Given the description of an element on the screen output the (x, y) to click on. 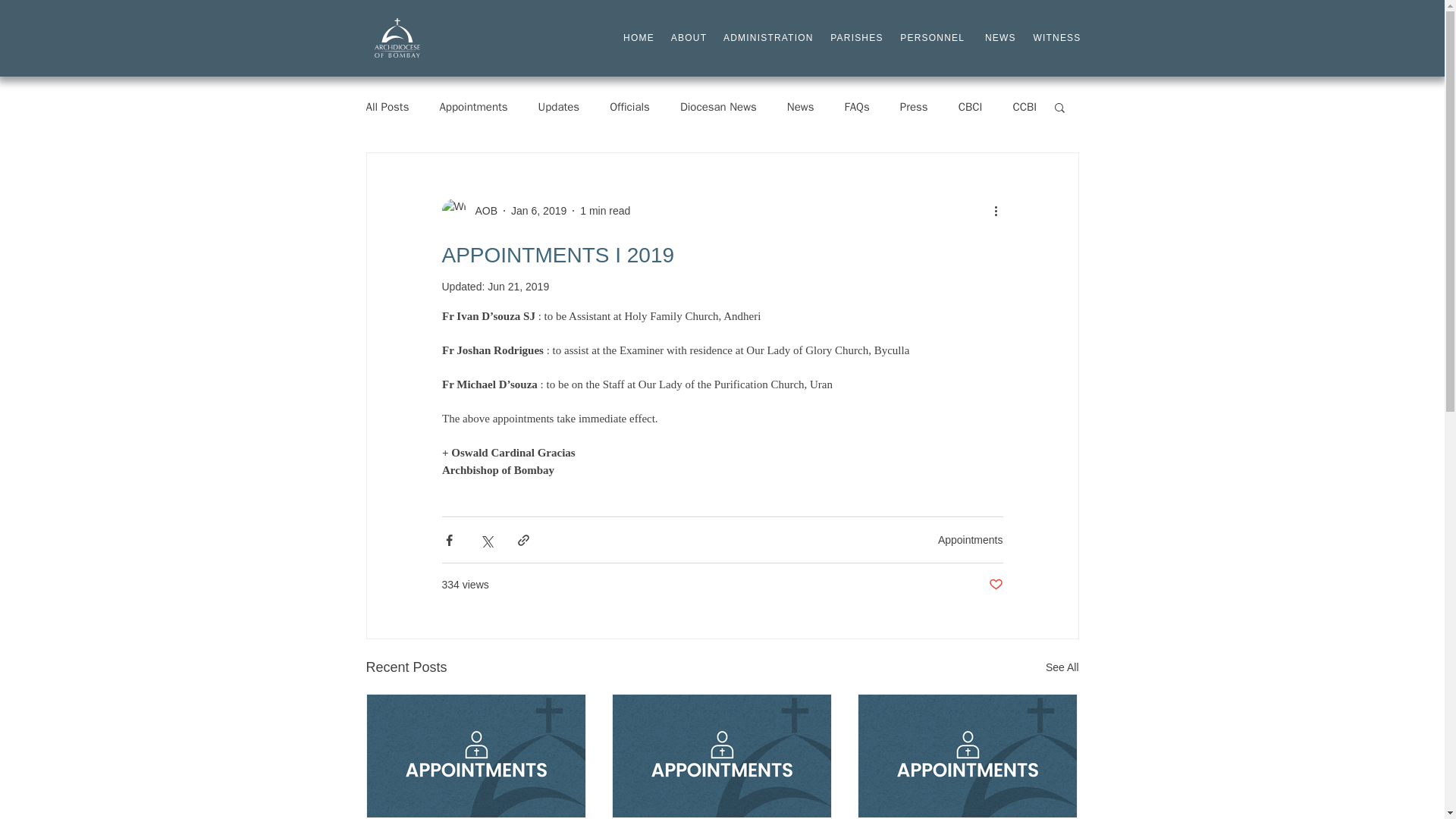
Appointments (472, 106)
ADMINISTRATION (768, 37)
News (800, 106)
Jun 21, 2019 (517, 286)
FAQs (856, 106)
Press (913, 106)
CCBI (1023, 106)
AOB (481, 211)
NEWS (1000, 37)
 WITNESS (1055, 37)
